Given the description of an element on the screen output the (x, y) to click on. 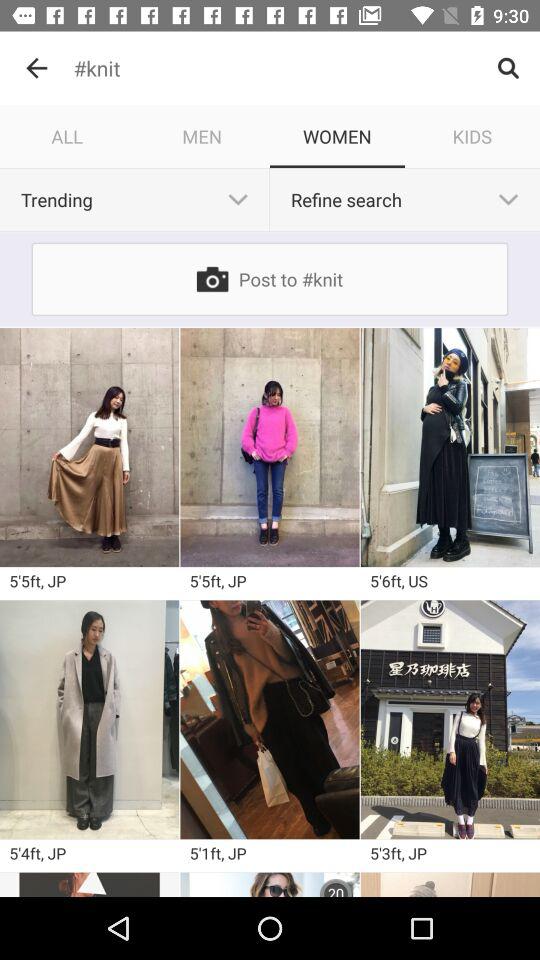
image thumbnail (269, 719)
